Given the description of an element on the screen output the (x, y) to click on. 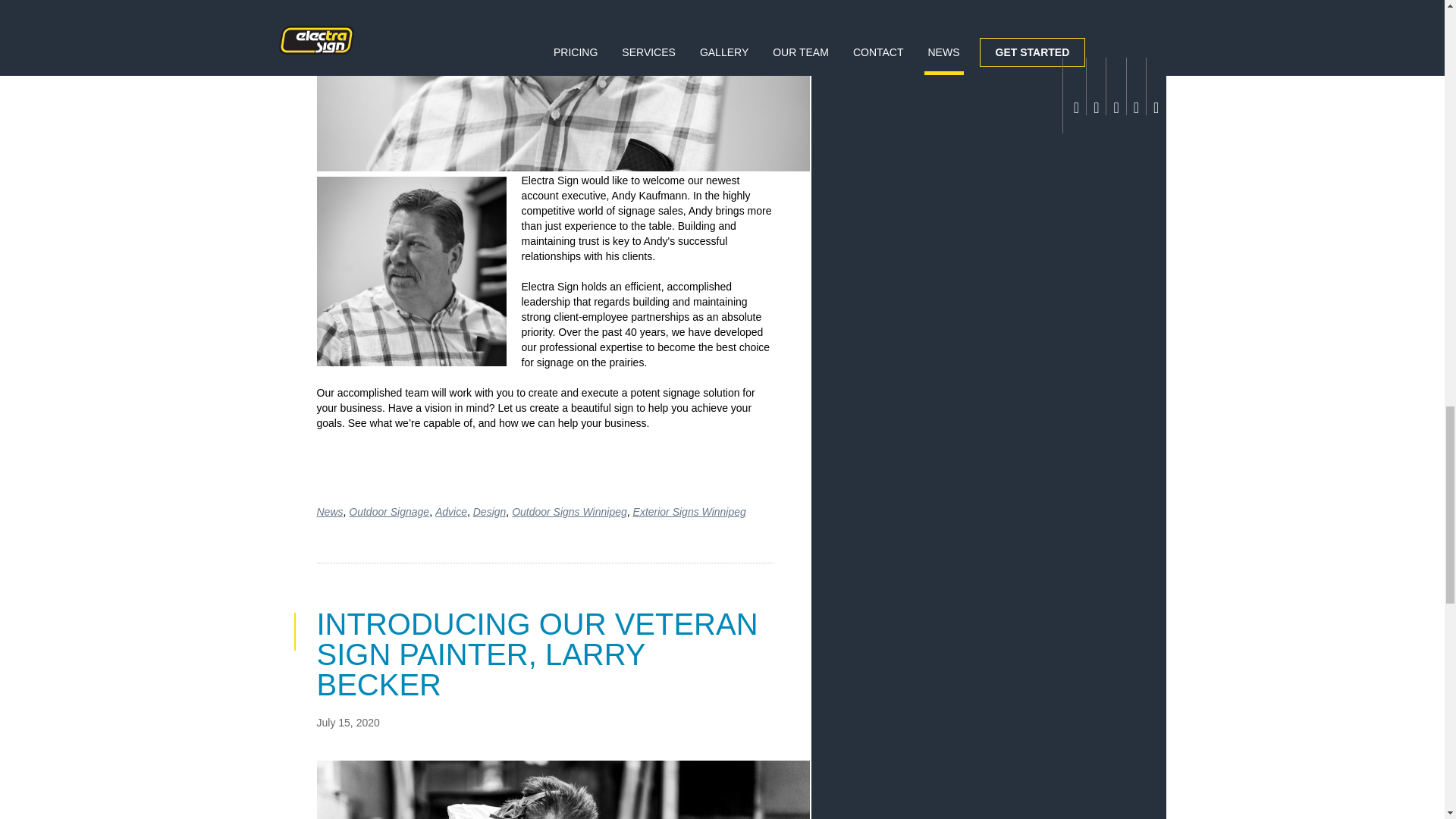
Outdoor Signage (389, 511)
Advice (451, 511)
Design (489, 511)
Outdoor Signs Winnipeg (569, 511)
News (330, 511)
Exterior Signs Winnipeg (689, 511)
